Given the description of an element on the screen output the (x, y) to click on. 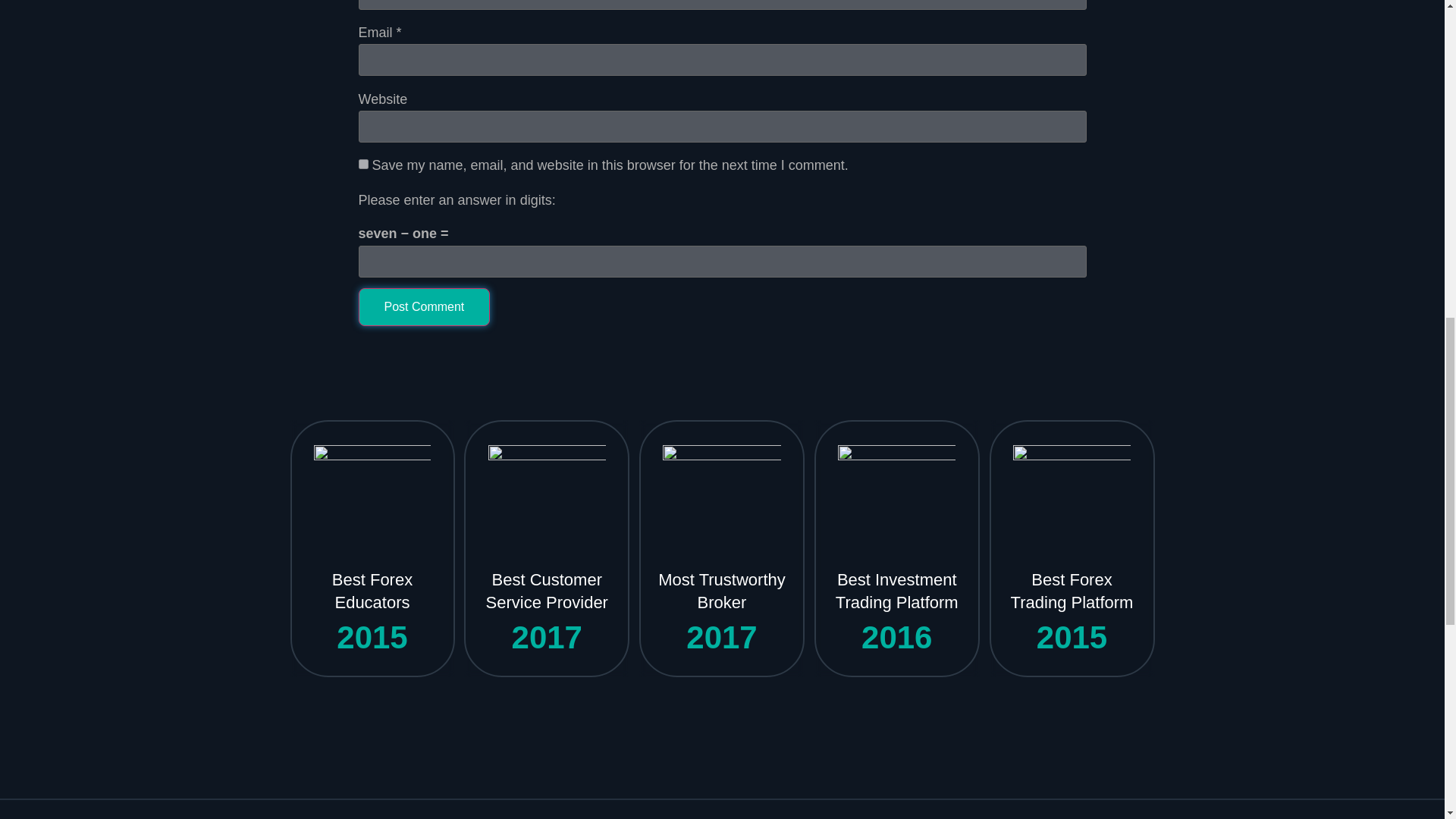
Post Comment (423, 306)
yes (363, 163)
